Given the description of an element on the screen output the (x, y) to click on. 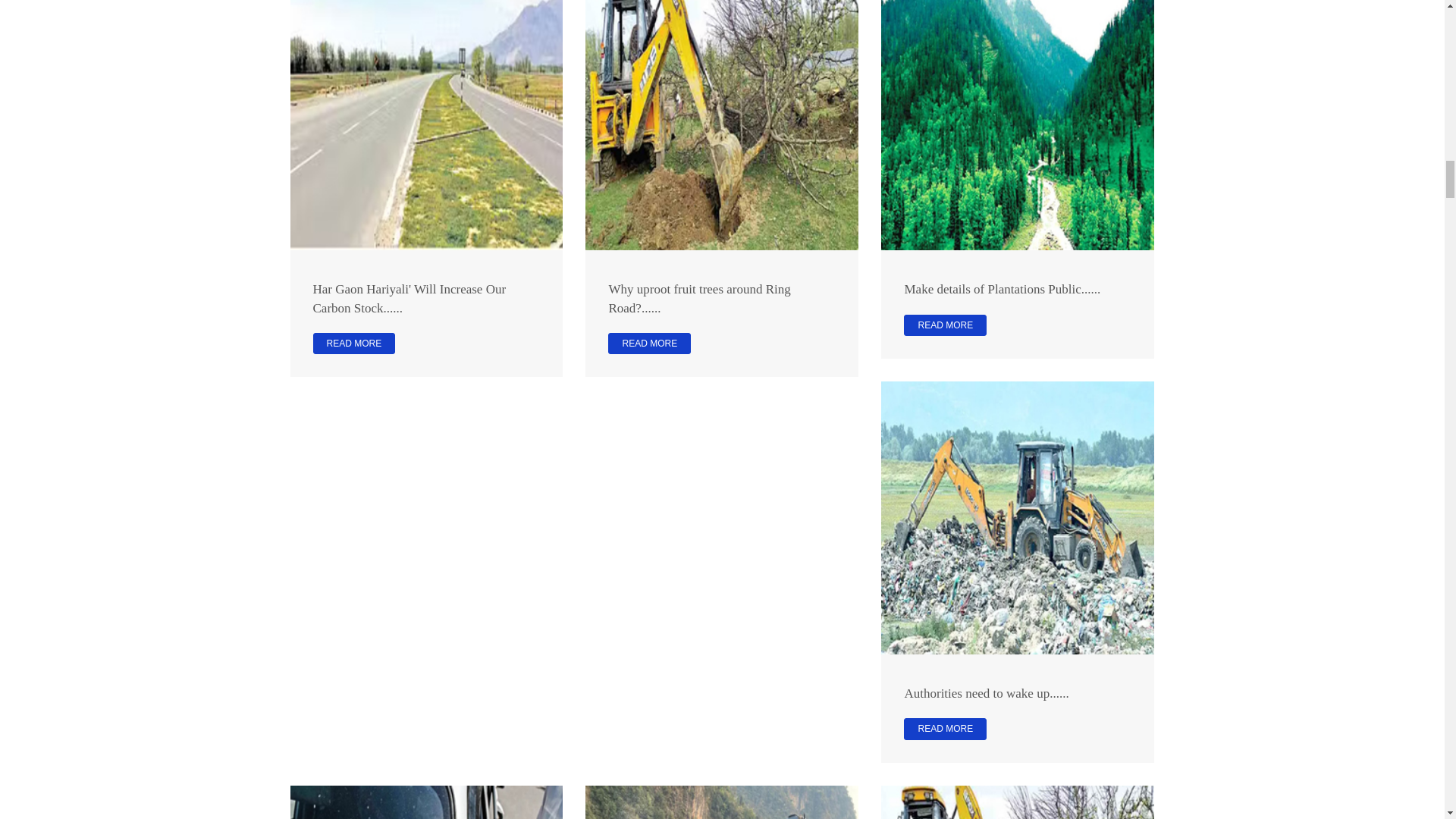
Why uproot fruit trees around Ring Road?...... (699, 297)
Har Gaon Hariyali' Will Increase Our Carbon Stock...... (409, 297)
READ MORE (353, 343)
